Given the description of an element on the screen output the (x, y) to click on. 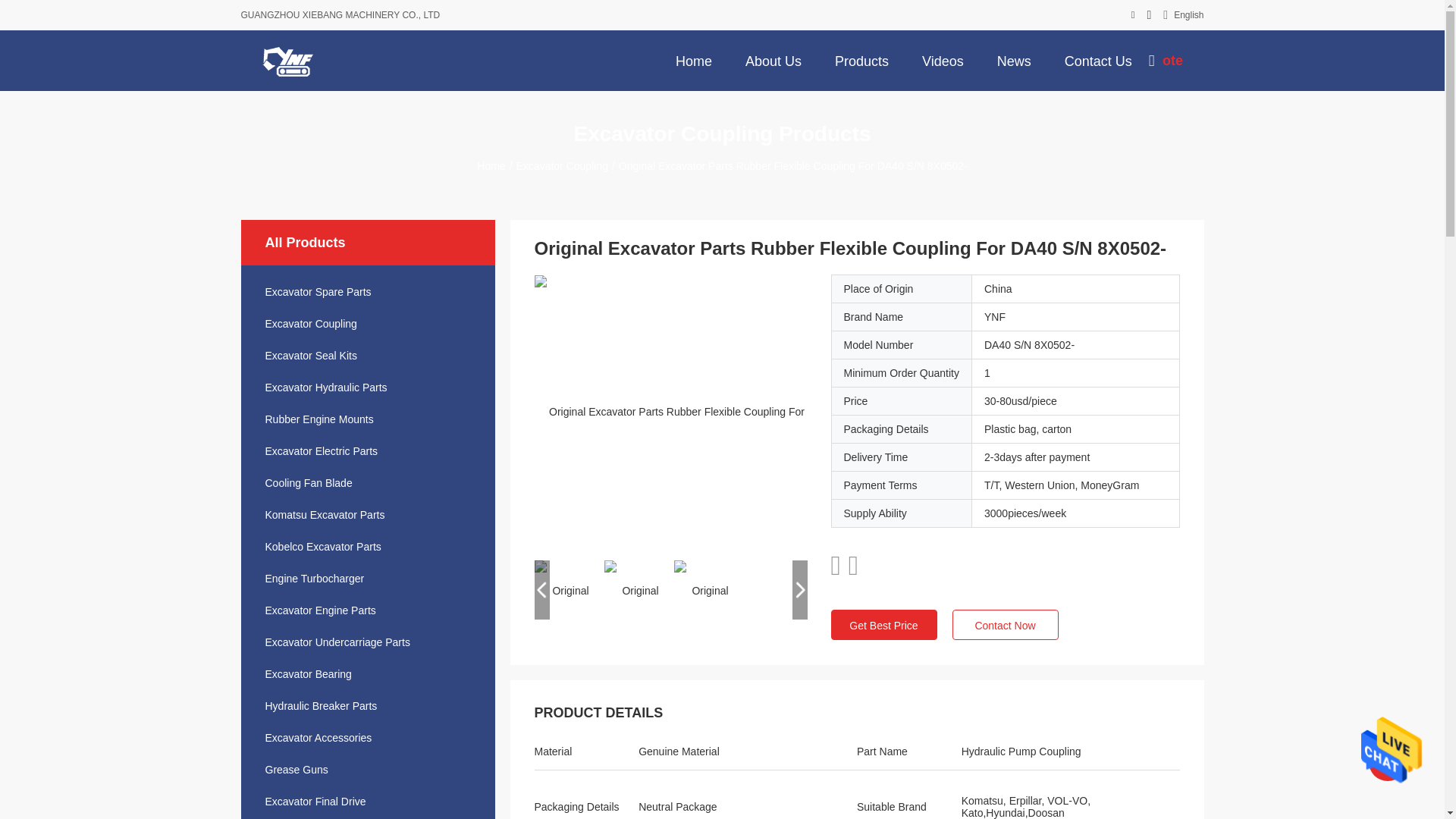
Home (693, 60)
Products (861, 60)
About Us (773, 60)
